Given the description of an element on the screen output the (x, y) to click on. 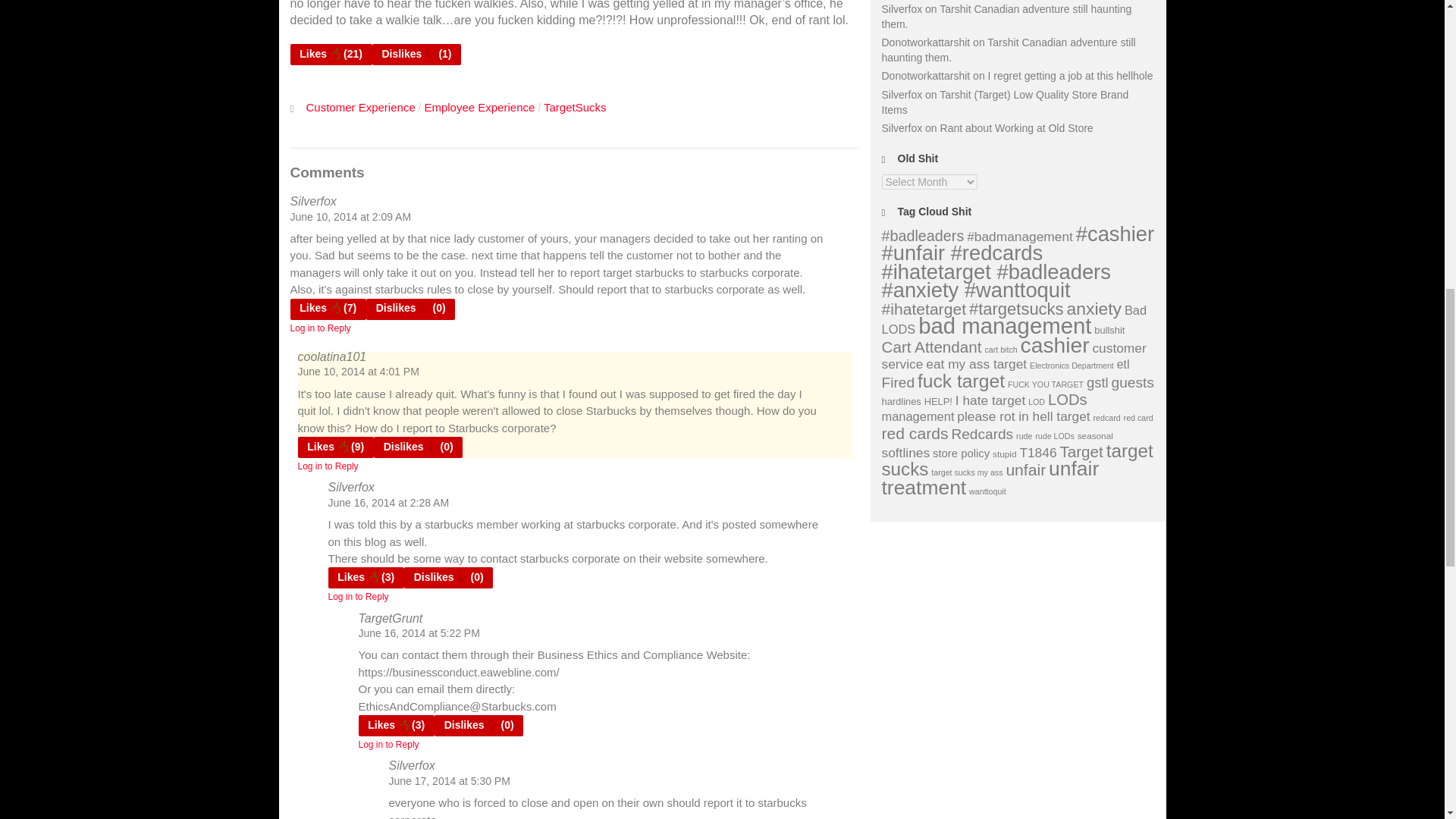
Log in to Reply (388, 744)
June 16, 2014 at 5:22 PM (418, 633)
June 10, 2014 at 4:01 PM (358, 371)
Employee Experience (478, 106)
Log in to Reply (319, 327)
June 16, 2014 at 2:28 AM (387, 502)
June 17, 2014 at 5:30 PM (448, 780)
Tarshit Canadian adventure still haunting them. (1005, 16)
June 10, 2014 at 2:09 AM (349, 216)
Log in to Reply (327, 466)
TargetSucks (575, 106)
Log in to Reply (357, 596)
Tarshit Canadian adventure still haunting them. (1007, 49)
Customer Experience (359, 106)
I regret getting a job at this hellhole (1070, 75)
